Given the description of an element on the screen output the (x, y) to click on. 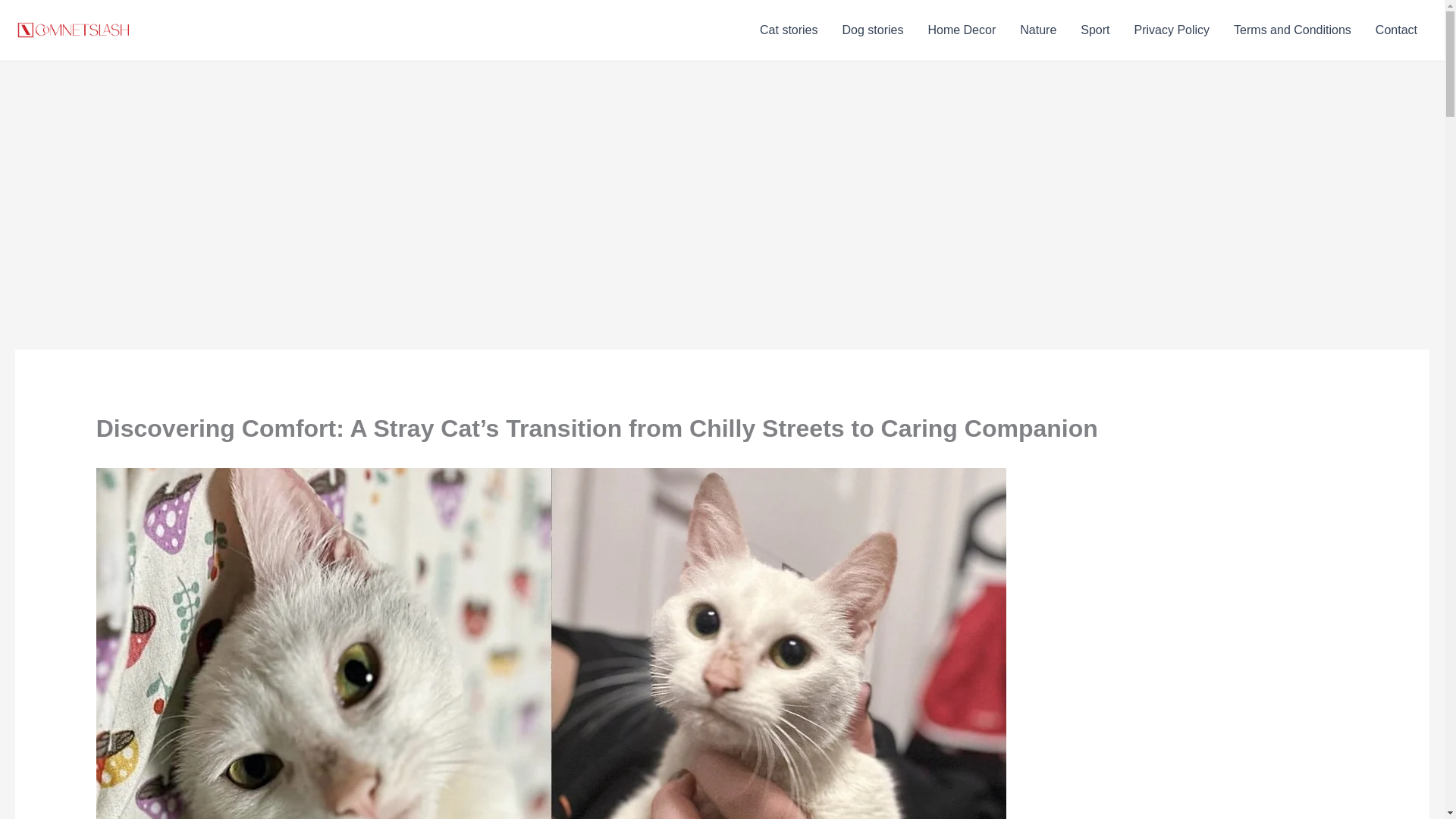
Home Decor (961, 30)
Privacy Policy (1172, 30)
Dog stories (872, 30)
Nature (1037, 30)
Terms and Conditions (1291, 30)
Cat stories (788, 30)
Contact (1395, 30)
